Given the description of an element on the screen output the (x, y) to click on. 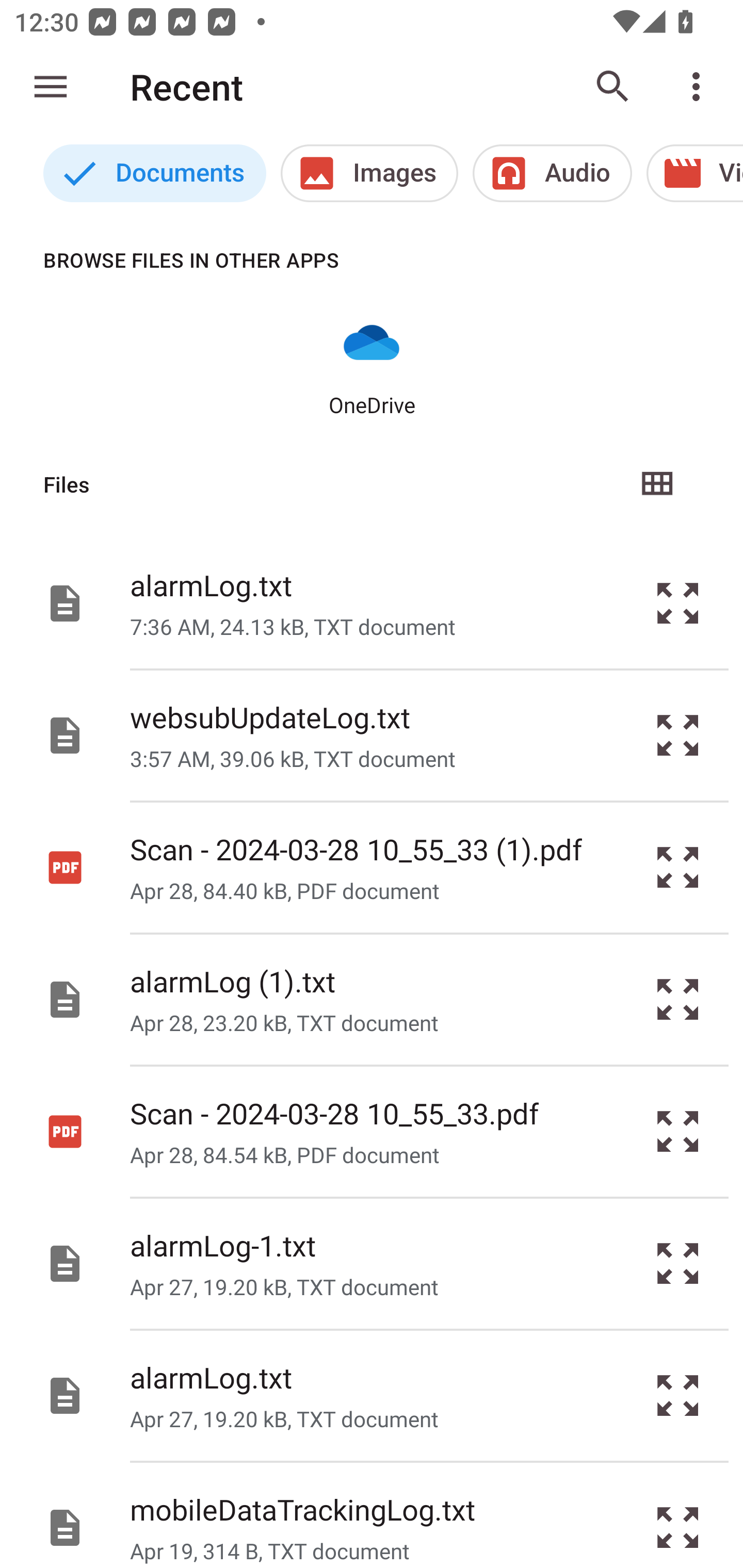
Show roots (50, 86)
Search (612, 86)
More options (699, 86)
Documents (154, 173)
Images (369, 173)
Audio (552, 173)
Videos (694, 173)
OneDrive (371, 365)
Grid view (655, 484)
Preview the file alarmLog.txt (677, 602)
Preview the file websubUpdateLog.txt (677, 736)
Preview the file alarmLog (1).txt (677, 999)
Preview the file Scan - 2024-03-28 10_55_33.pdf (677, 1131)
Preview the file alarmLog-1.txt (677, 1262)
Preview the file alarmLog.txt (677, 1396)
Preview the file mobileDataTrackingLog.txt (677, 1515)
